Given the description of an element on the screen output the (x, y) to click on. 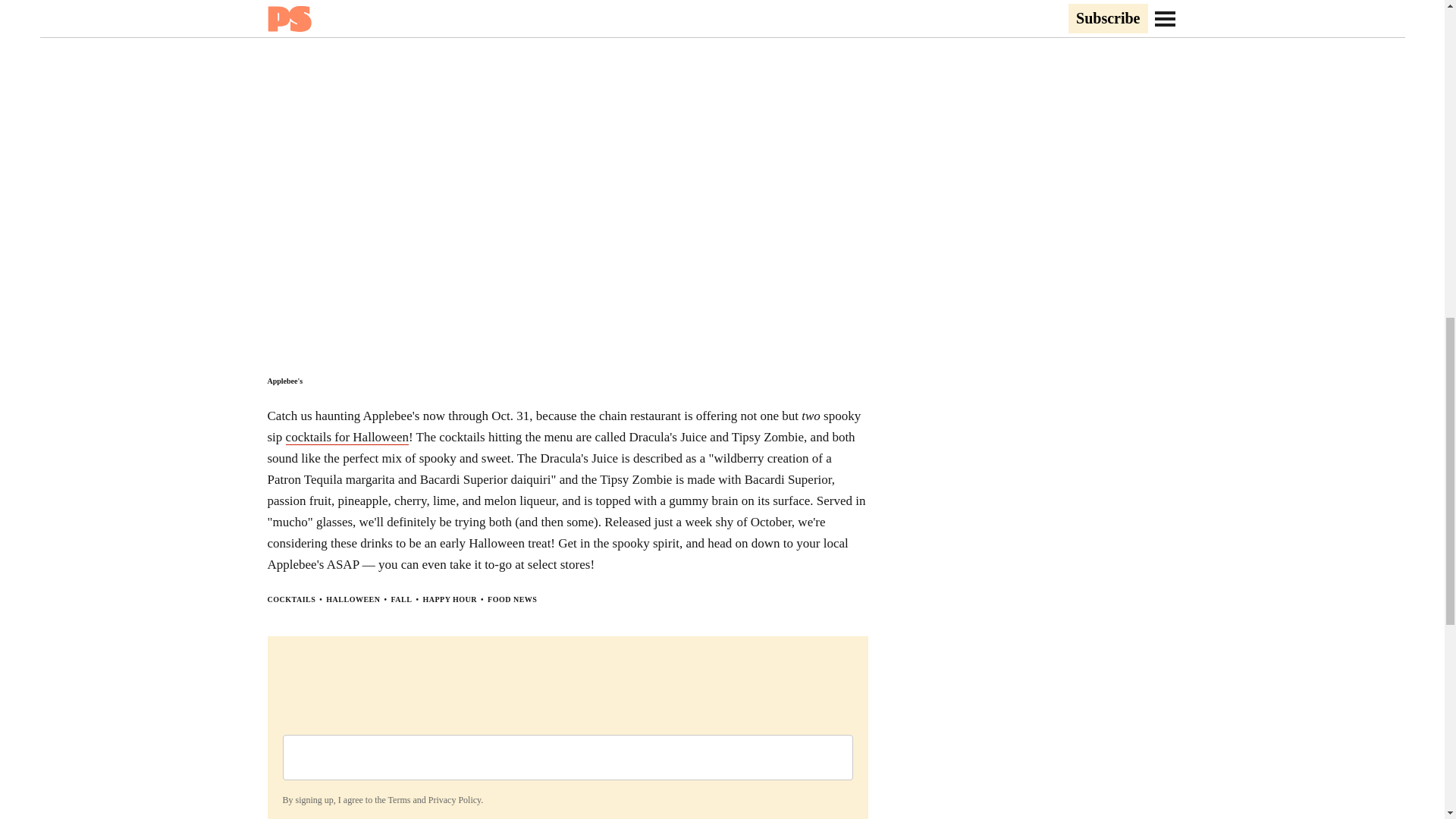
Applebee's (284, 380)
HAPPY HOUR (449, 599)
cocktails for Halloween (347, 437)
FALL (401, 599)
HALLOWEEN (353, 599)
FOOD NEWS (512, 599)
Terms (399, 799)
COCKTAILS (290, 599)
Privacy Policy. (455, 799)
